Given the description of an element on the screen output the (x, y) to click on. 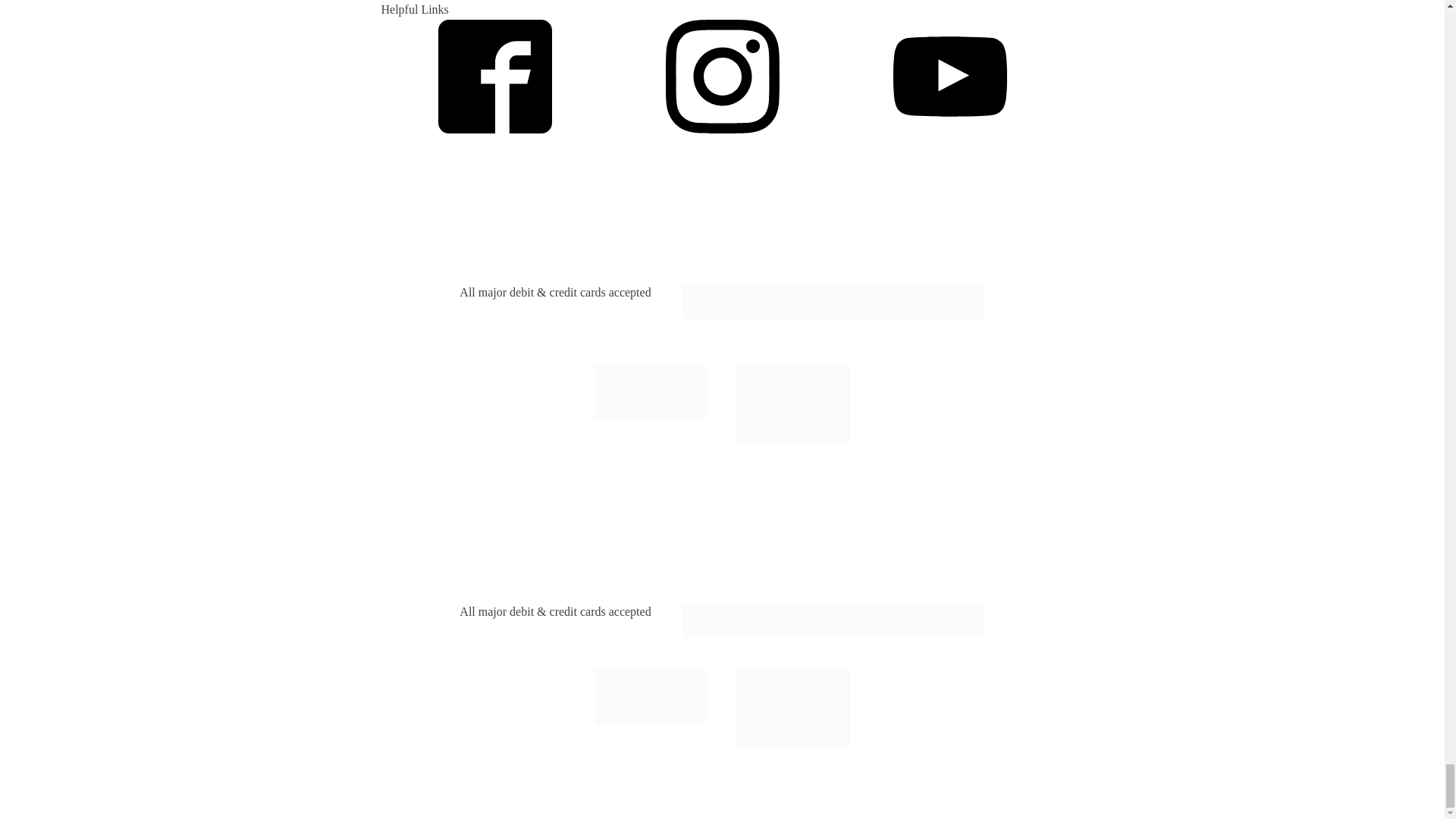
Visit our YouTube channel (948, 76)
Visit our Facebook (494, 76)
Visit our Instagram (721, 76)
